Given the description of an element on the screen output the (x, y) to click on. 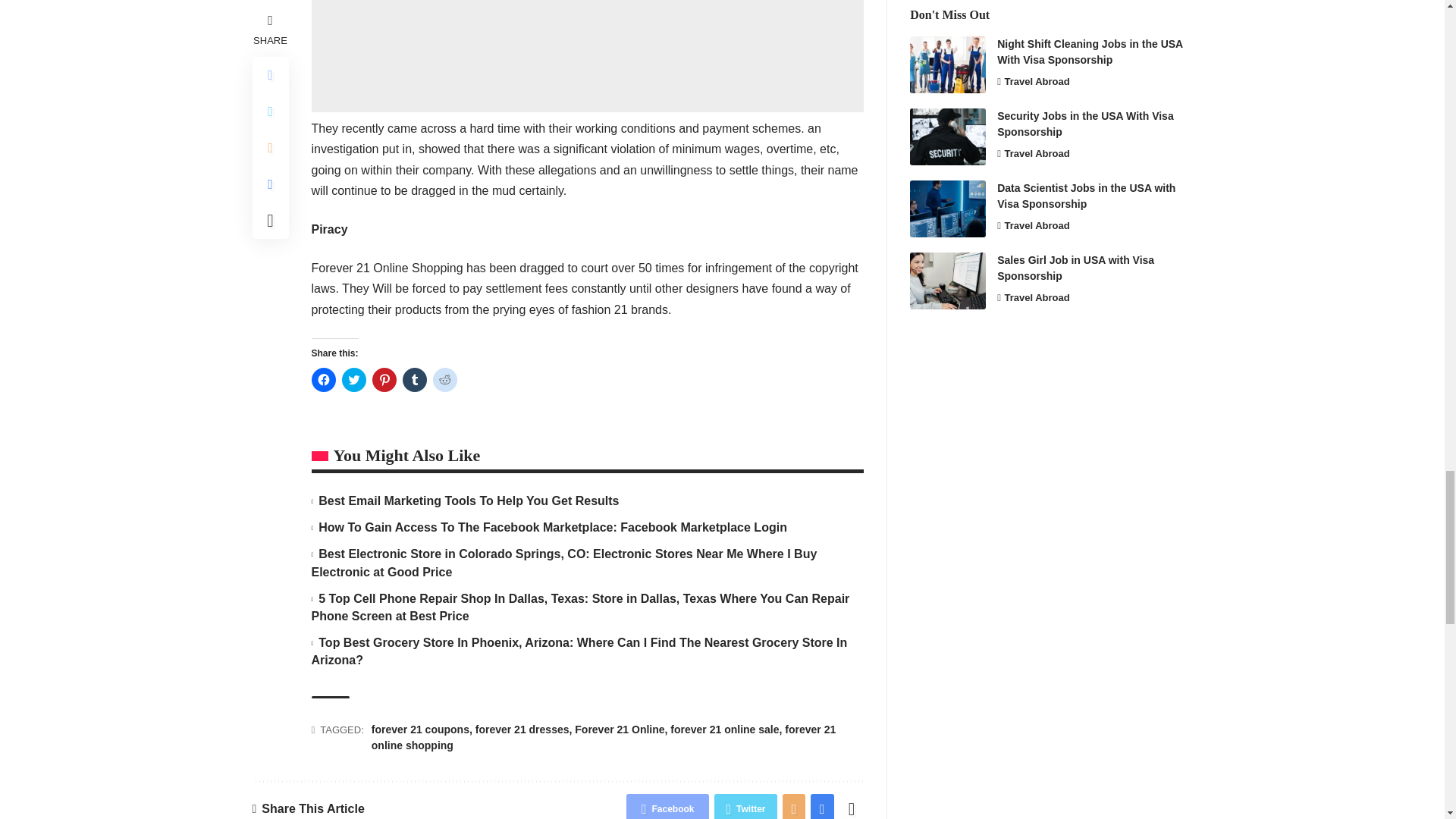
Click to share on Tumblr (413, 379)
Click to share on Twitter (352, 379)
Click to share on Reddit (444, 379)
Click to share on Pinterest (383, 379)
Click to share on Facebook (322, 379)
Advertisement (587, 56)
